Given the description of an element on the screen output the (x, y) to click on. 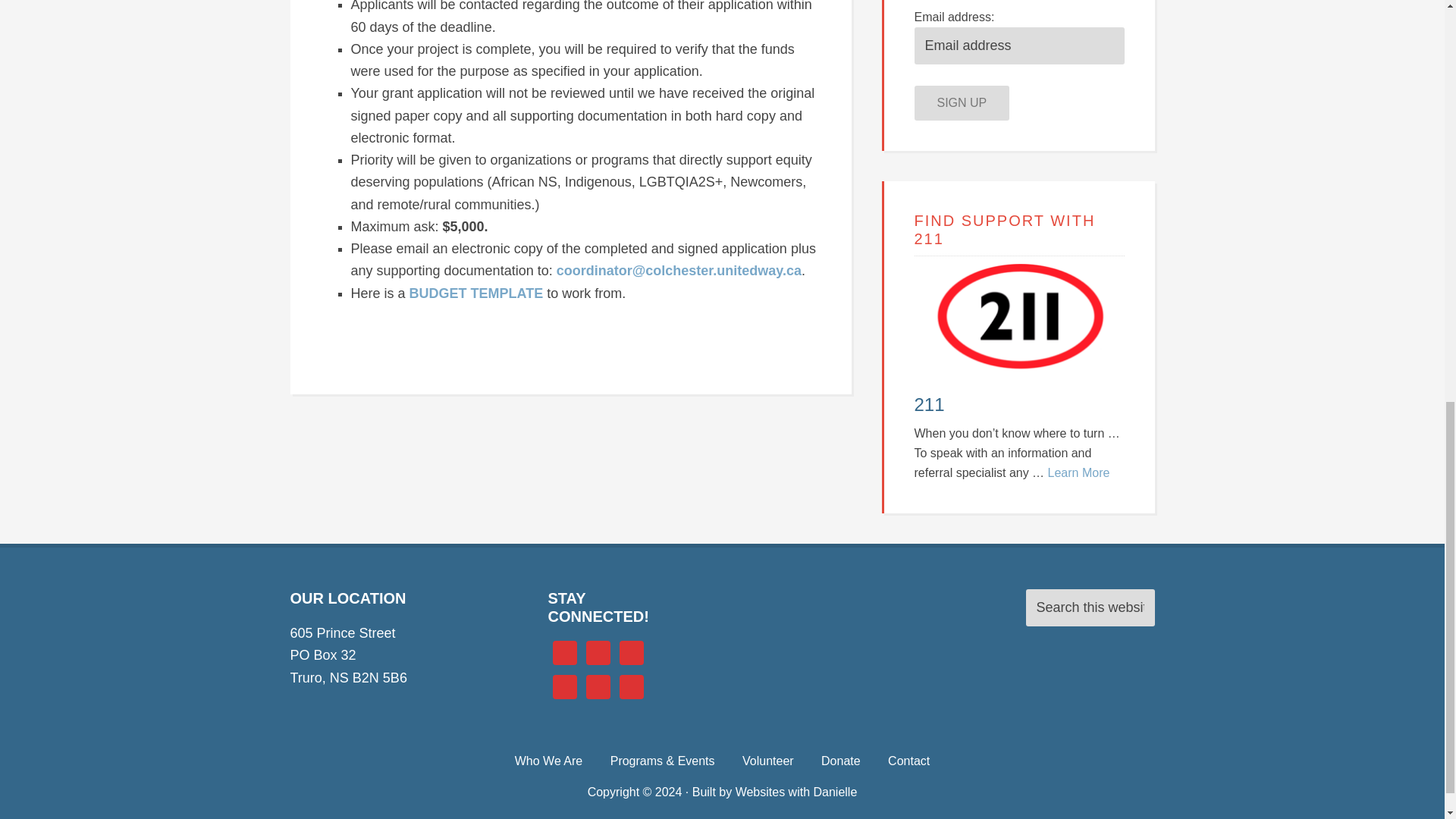
Sign up (962, 102)
Sign up (962, 102)
BUDGET TEMPLATE (476, 293)
